Given the description of an element on the screen output the (x, y) to click on. 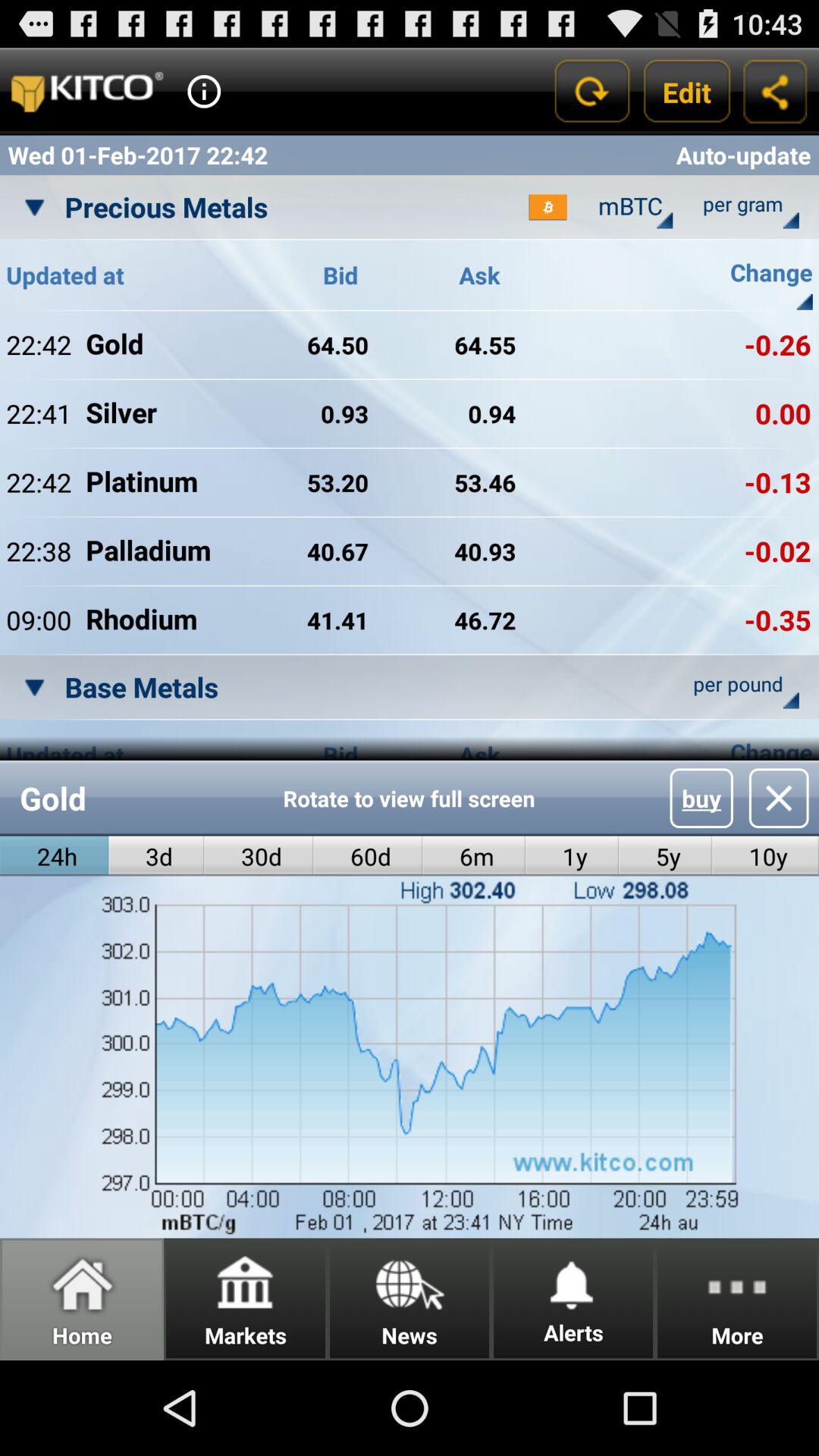
select share option (775, 91)
